Given the description of an element on the screen output the (x, y) to click on. 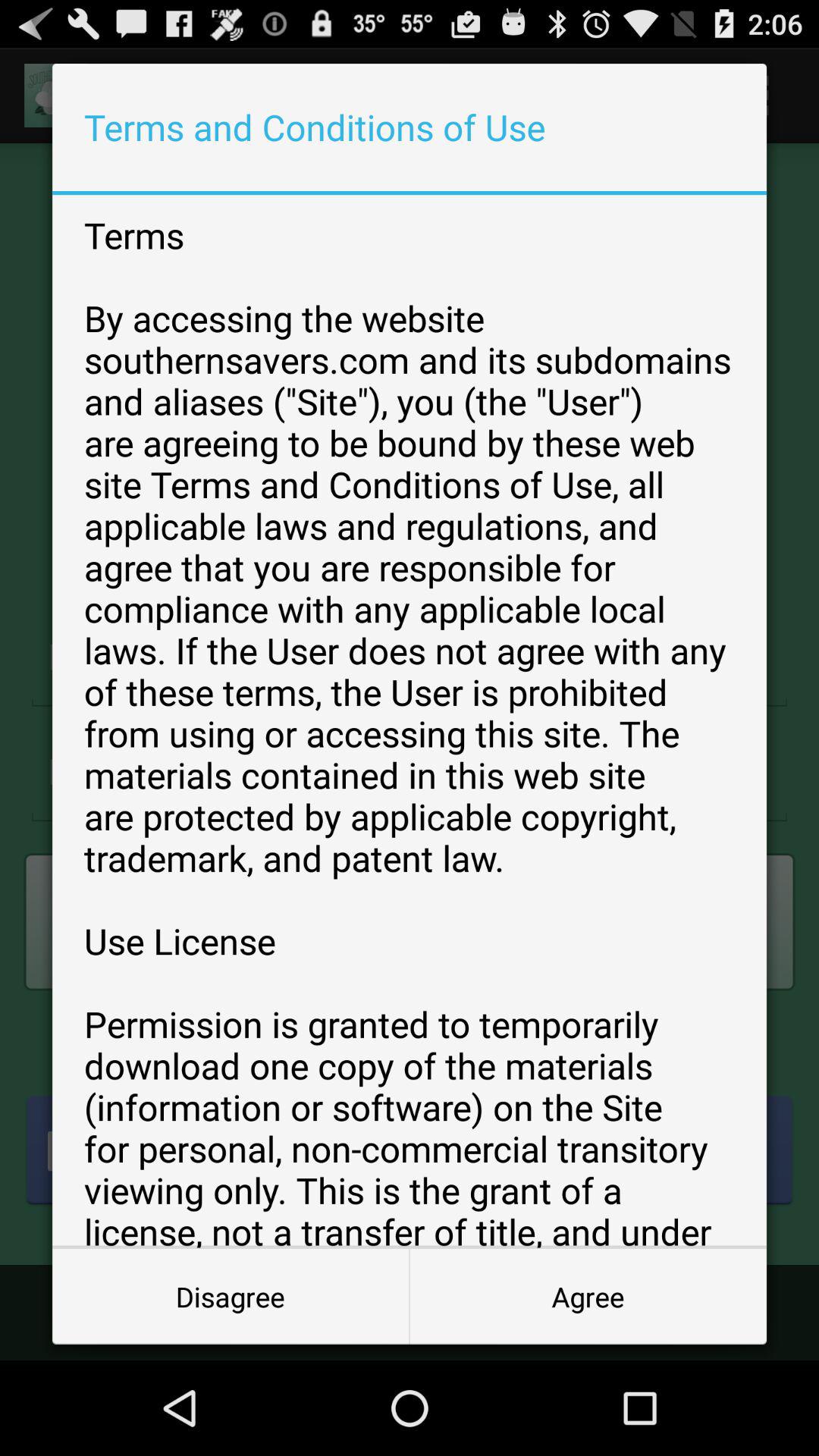
open the button at the bottom left corner (230, 1296)
